Given the description of an element on the screen output the (x, y) to click on. 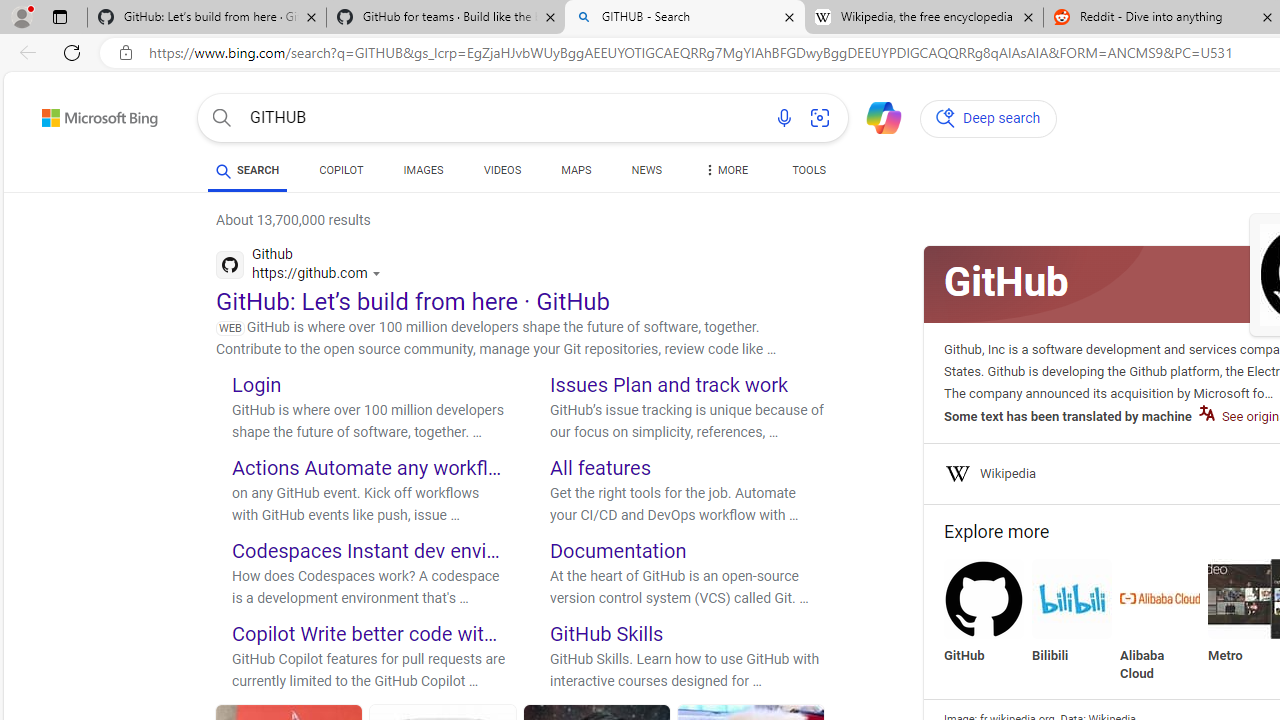
TOOLS (808, 170)
NEWS (646, 170)
MORE (724, 173)
GitHub Skills (607, 632)
Explore more Alibaba Cloud (1160, 620)
NEWS (646, 173)
GITHUB - Search (684, 17)
Explore more GitHub (984, 611)
COPILOT (341, 173)
